Given the description of an element on the screen output the (x, y) to click on. 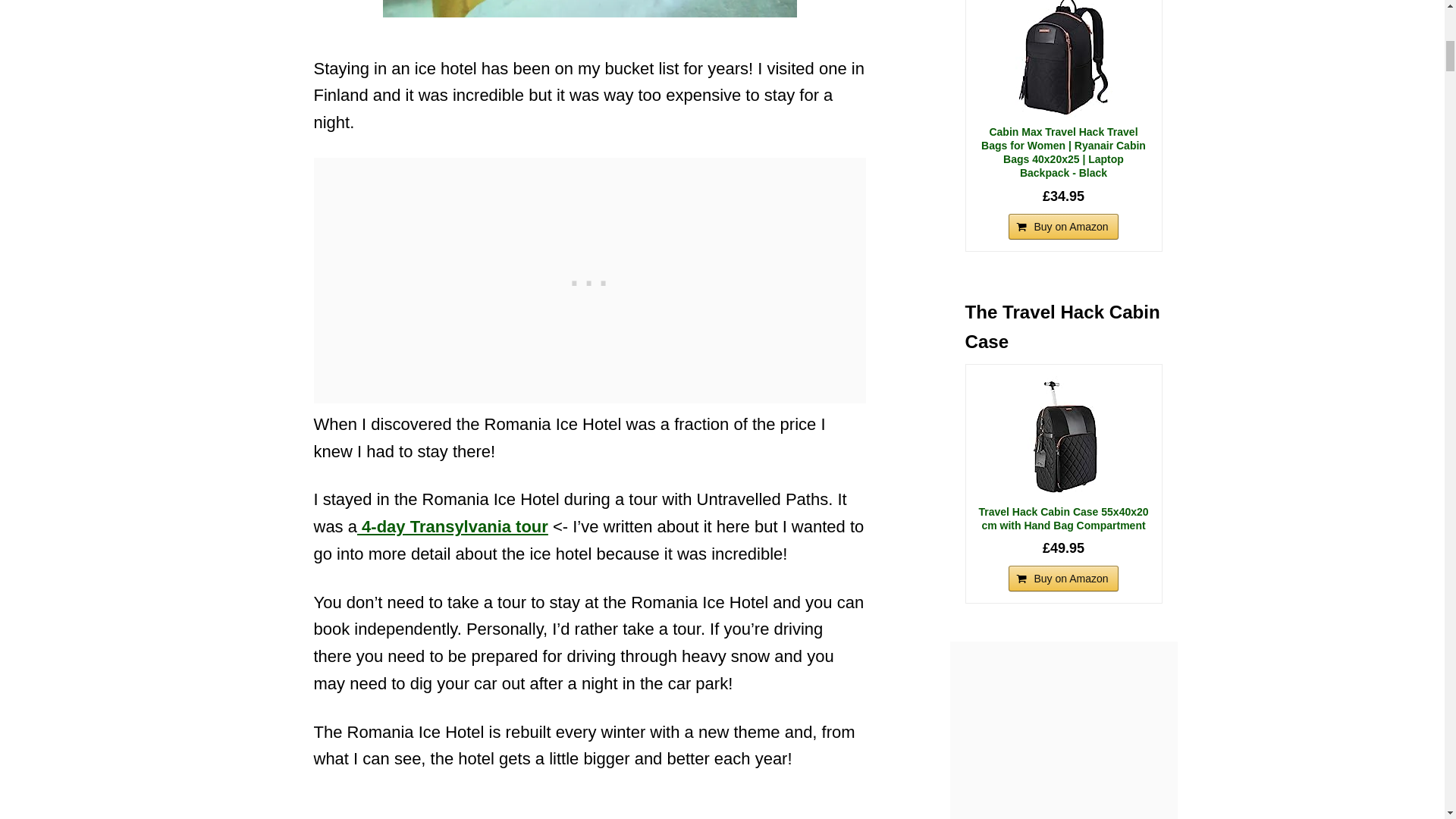
Travel Hack Cabin Case 55x40x20 cm with Hand Bag Compartment (1063, 518)
Buy on Amazon (1063, 226)
Travel Hack Cabin Case 55x40x20 cm with Hand Bag Compartment (1063, 518)
Buy on Amazon (1063, 578)
Buy on Amazon (1063, 578)
4-day Transylvania tour (452, 526)
Travel Hack Cabin Case 55x40x20 cm with Hand Bag Compartment (1063, 436)
Buy on Amazon (1063, 226)
